Given the description of an element on the screen output the (x, y) to click on. 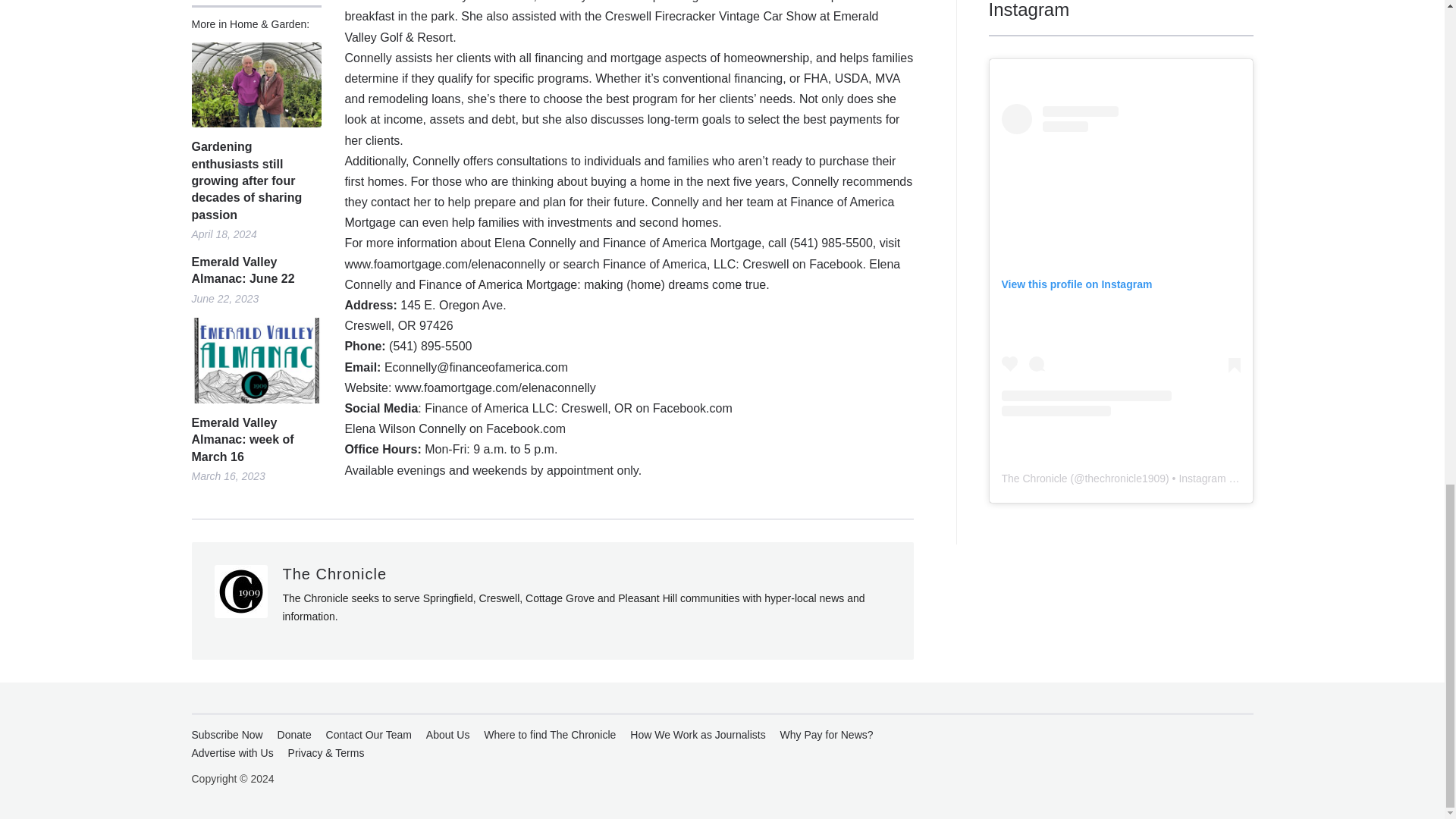
Permalink to Emerald Valley Almanac: June 22 (255, 270)
Posts by The Chronicle (334, 573)
Permalink to Emerald Valley Almanac: week of March 16 (255, 440)
Permalink to Emerald Valley Almanac: week of March 16 (255, 360)
